Given the description of an element on the screen output the (x, y) to click on. 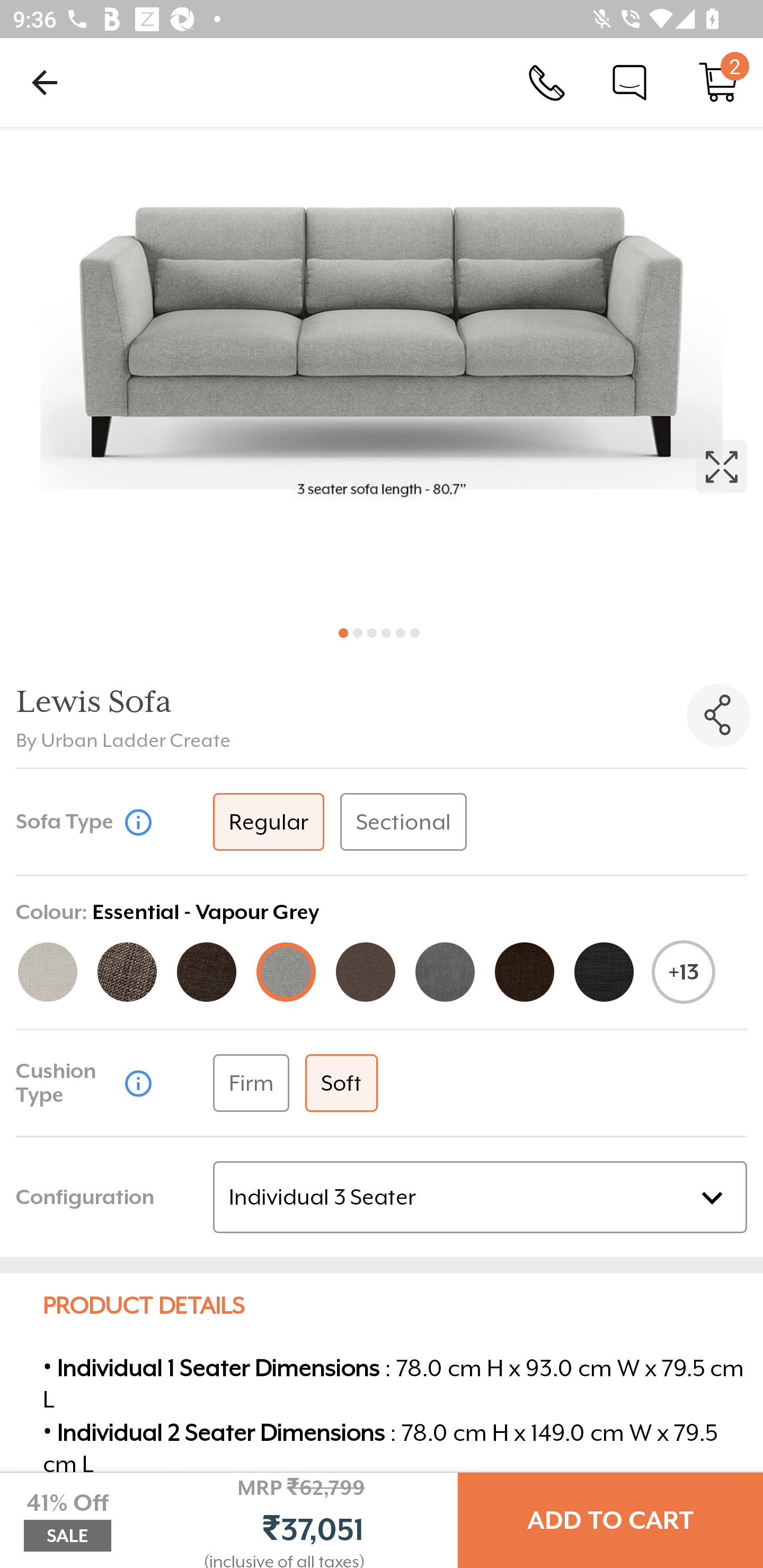
Navigate up (44, 82)
Call Us (546, 81)
Chat (629, 81)
Cart (718, 81)
 (381, 370)
 (718, 715)
Regular (268, 822)
Sectional (403, 822)
 (138, 821)
Sofa Type (67, 821)
+13 (683, 971)
Firm (250, 1082)
Soft (341, 1082)
Cushion Type (67, 1082)
 (138, 1082)
Individual 3 Seater  (479, 1196)
ADD TO CART (610, 1520)
